Given the description of an element on the screen output the (x, y) to click on. 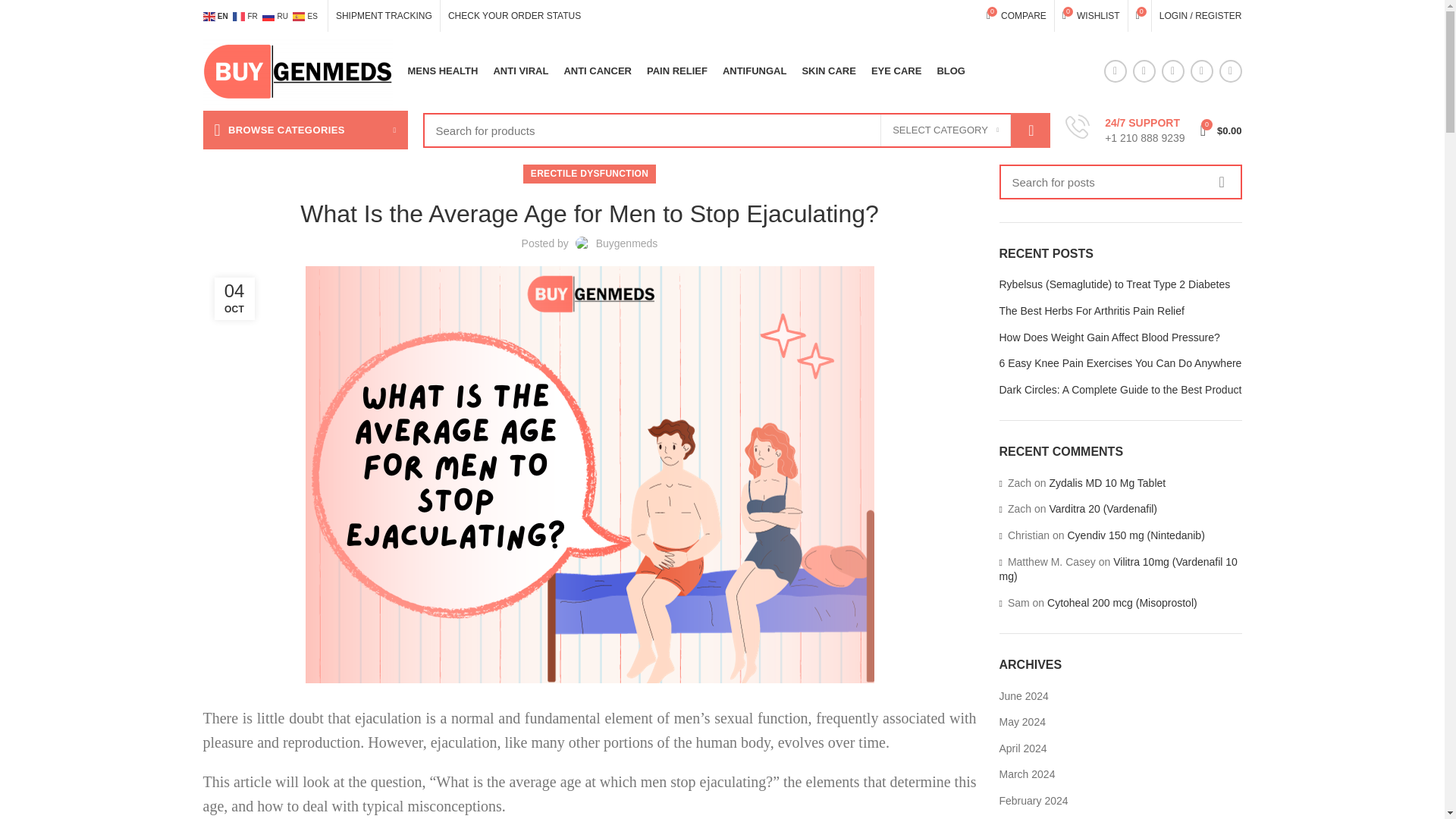
CHECK YOUR ORDER STATUS (514, 15)
ANTI VIRAL (520, 71)
BLOG (950, 71)
EYE CARE (895, 71)
Spanish (306, 15)
ES (306, 15)
Search for products (737, 130)
EN (1016, 15)
SHIPMENT TRACKING (216, 15)
ANTIFUNGAL (384, 15)
ANTI CANCER (754, 71)
French (597, 71)
PAIN RELIEF (246, 15)
Compare products (676, 71)
